Given the description of an element on the screen output the (x, y) to click on. 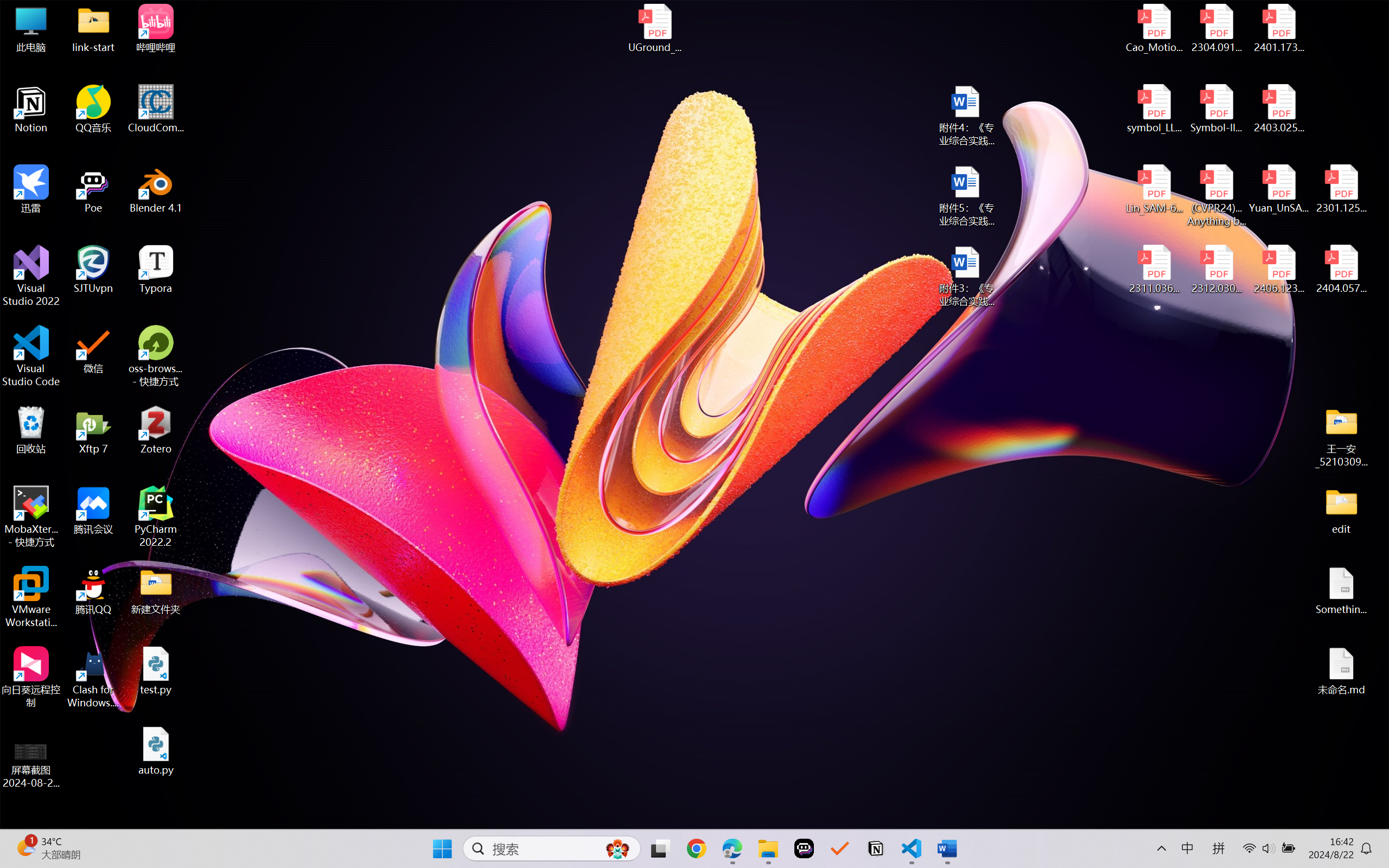
2401.17399v1.pdf (1278, 28)
Xftp 7 (93, 430)
PyCharm 2022.2 (156, 516)
